Given the description of an element on the screen output the (x, y) to click on. 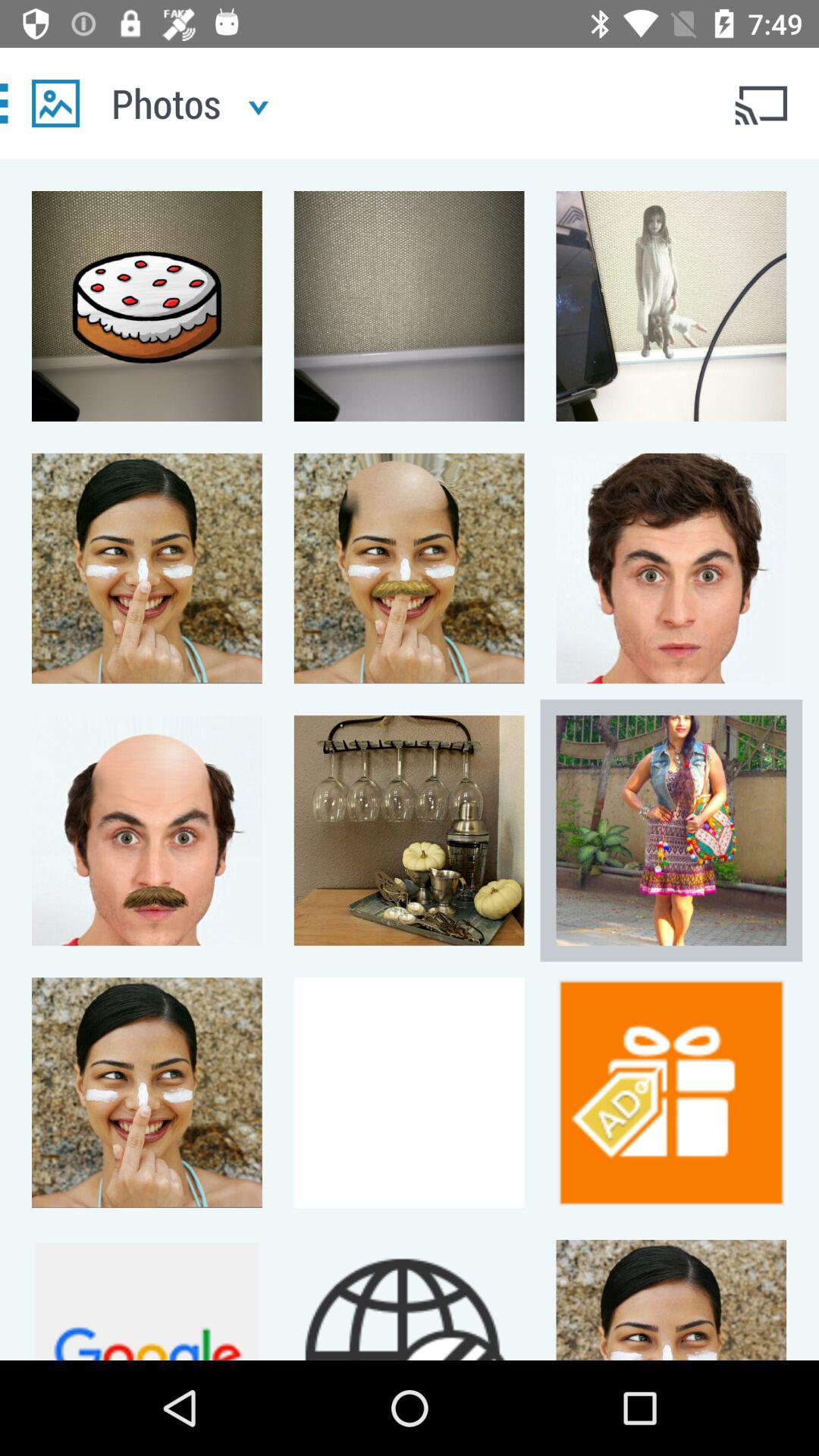
photos (55, 103)
